Given the description of an element on the screen output the (x, y) to click on. 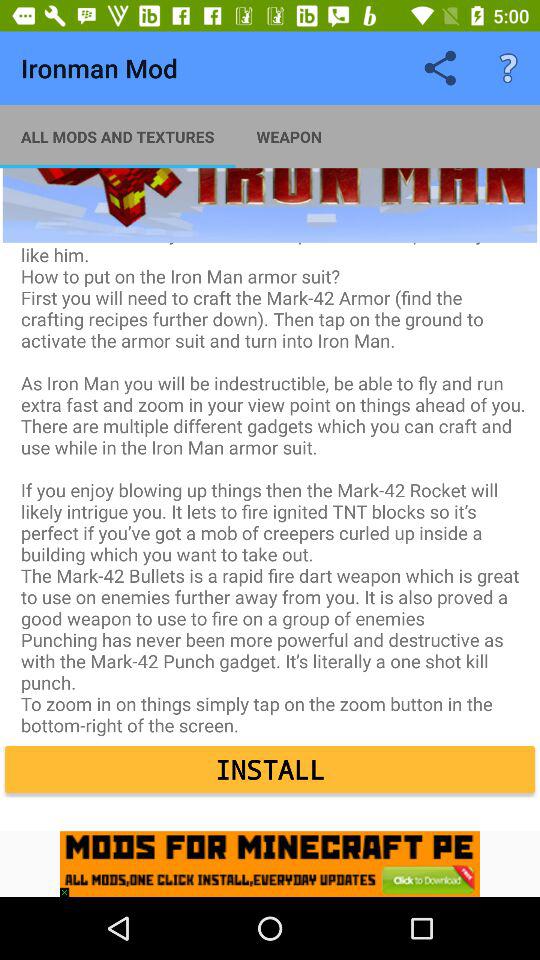
click icon below the install (69, 887)
